Given the description of an element on the screen output the (x, y) to click on. 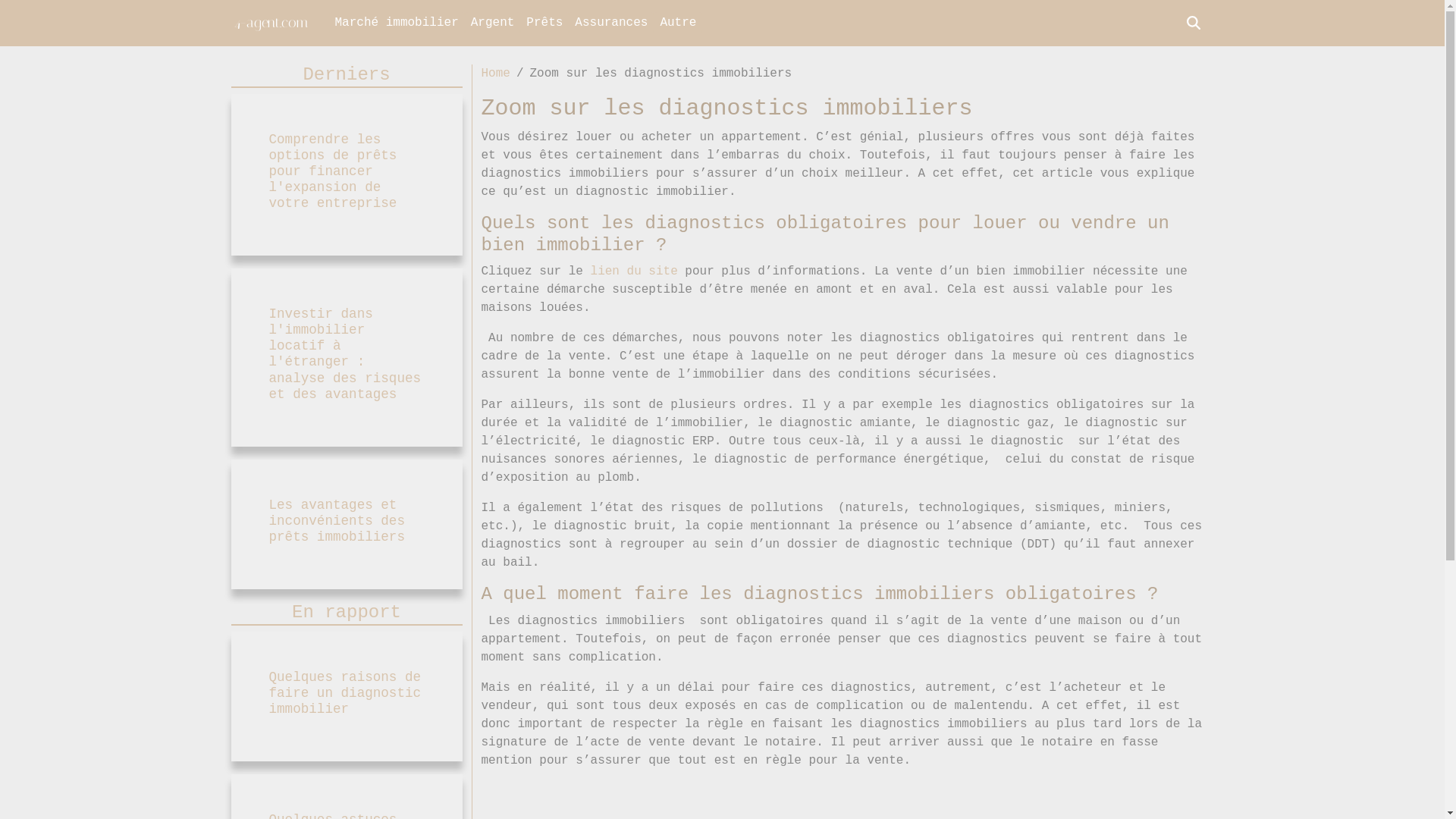
Quelques raisons de faire un diagnostic immobilier Element type: text (344, 692)
Home Element type: text (494, 73)
lien du site Element type: text (633, 271)
4-agent.com Element type: text (270, 22)
Argent Element type: text (492, 22)
Assurances Element type: text (610, 22)
Autre Element type: text (677, 22)
